Given the description of an element on the screen output the (x, y) to click on. 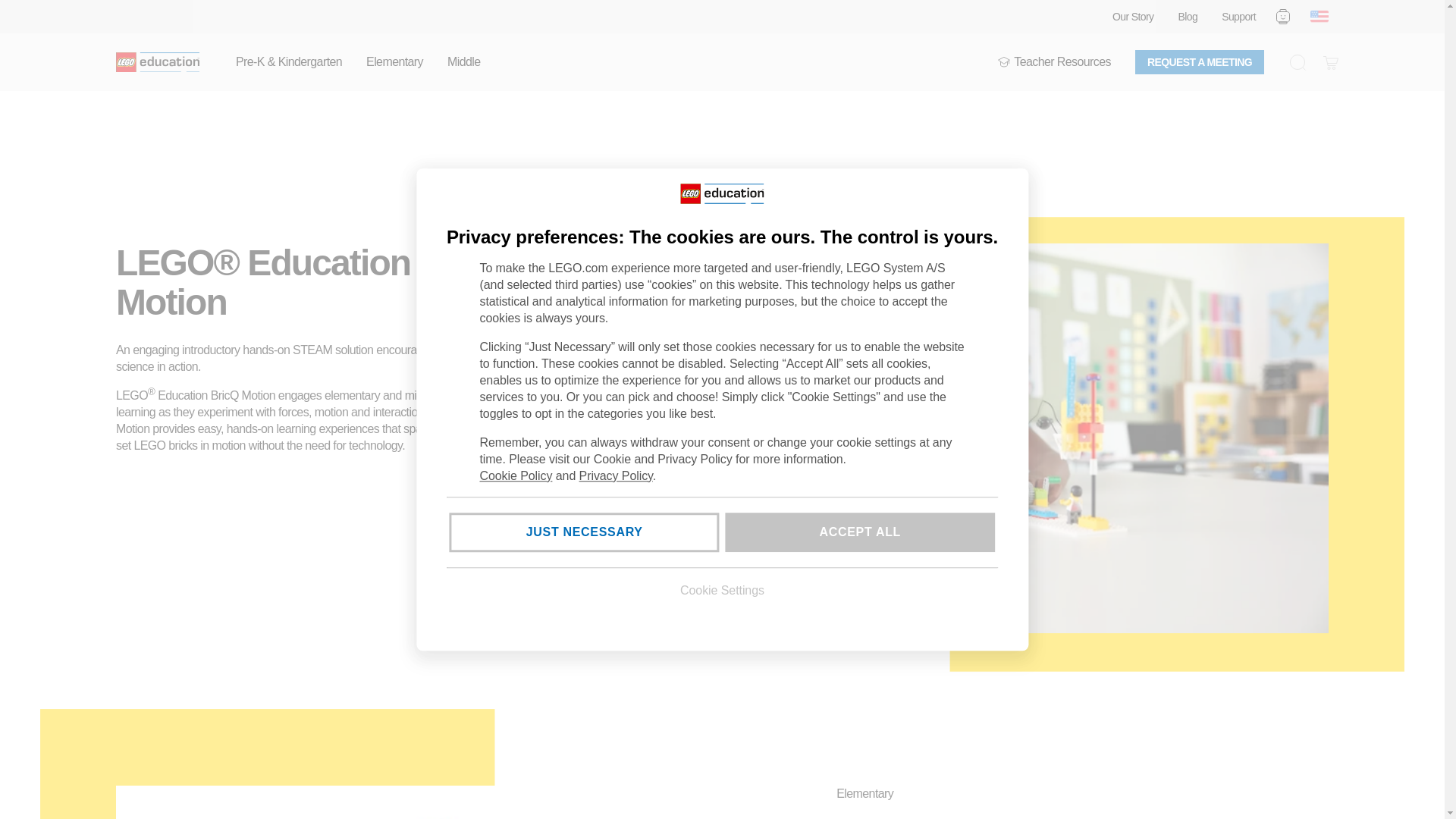
Elementary (394, 62)
Teacher Resources (1053, 62)
GRADE (1003, 61)
Middle (463, 62)
REQUEST A MEETING (1199, 61)
CART (1330, 62)
PROFILE (1283, 16)
Support (1238, 16)
Blog (1187, 16)
Our Story (1133, 16)
SEARCH (1297, 62)
